Given the description of an element on the screen output the (x, y) to click on. 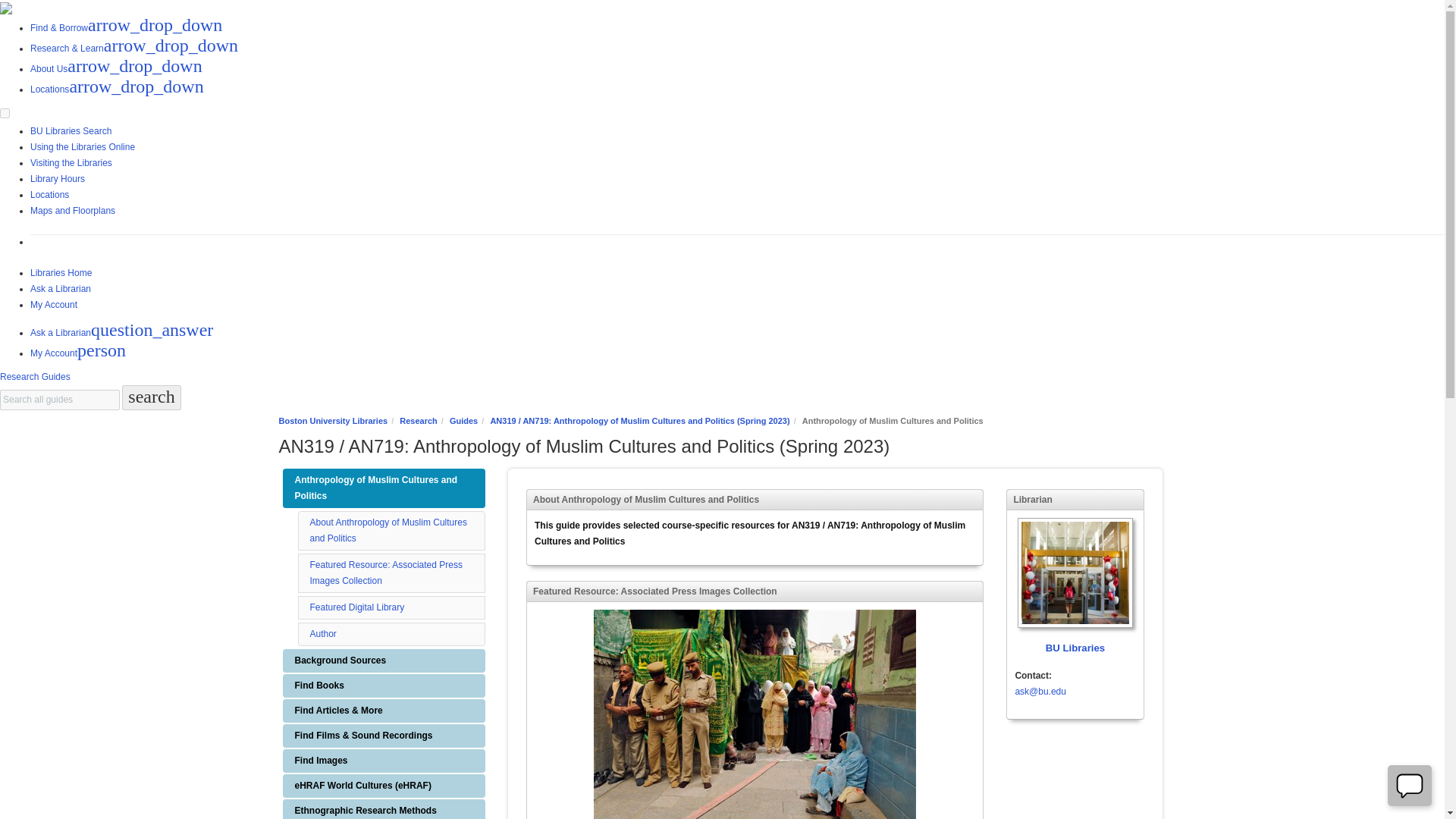
Library Hours (57, 178)
Libraries Home (60, 272)
Ask a Librarian (60, 288)
Featured Digital Library (356, 606)
Author (322, 633)
Ethnographic Research Methods (383, 809)
Guides (463, 420)
My Account (53, 304)
Maps and Floorplans (72, 210)
Locations (49, 194)
My Accountperson (77, 353)
Research (418, 420)
Using the Libraries Online (82, 146)
Background Sources (383, 660)
Research Guides (34, 376)
